Given the description of an element on the screen output the (x, y) to click on. 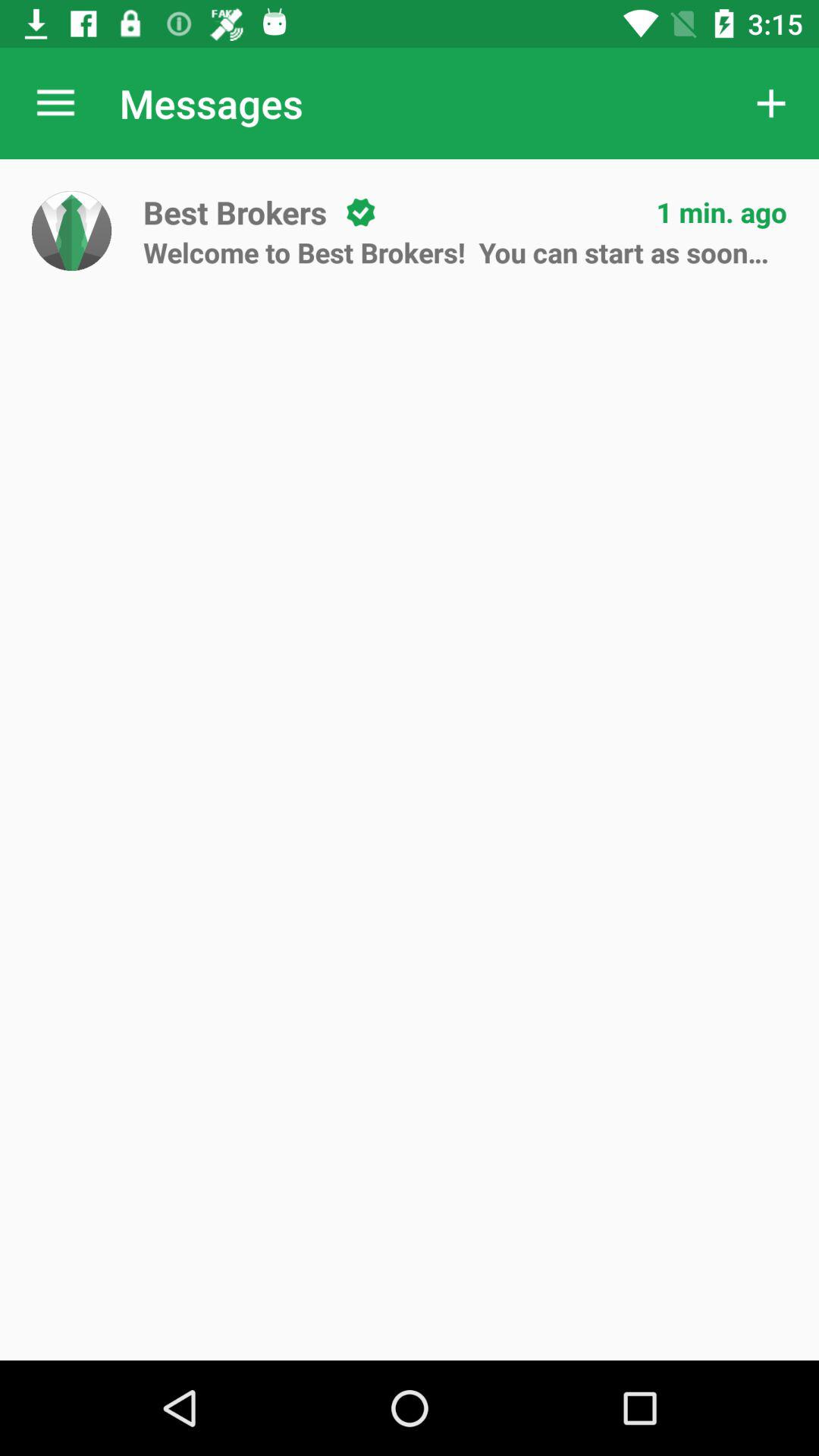
turn on item next to the messages item (55, 103)
